Given the description of an element on the screen output the (x, y) to click on. 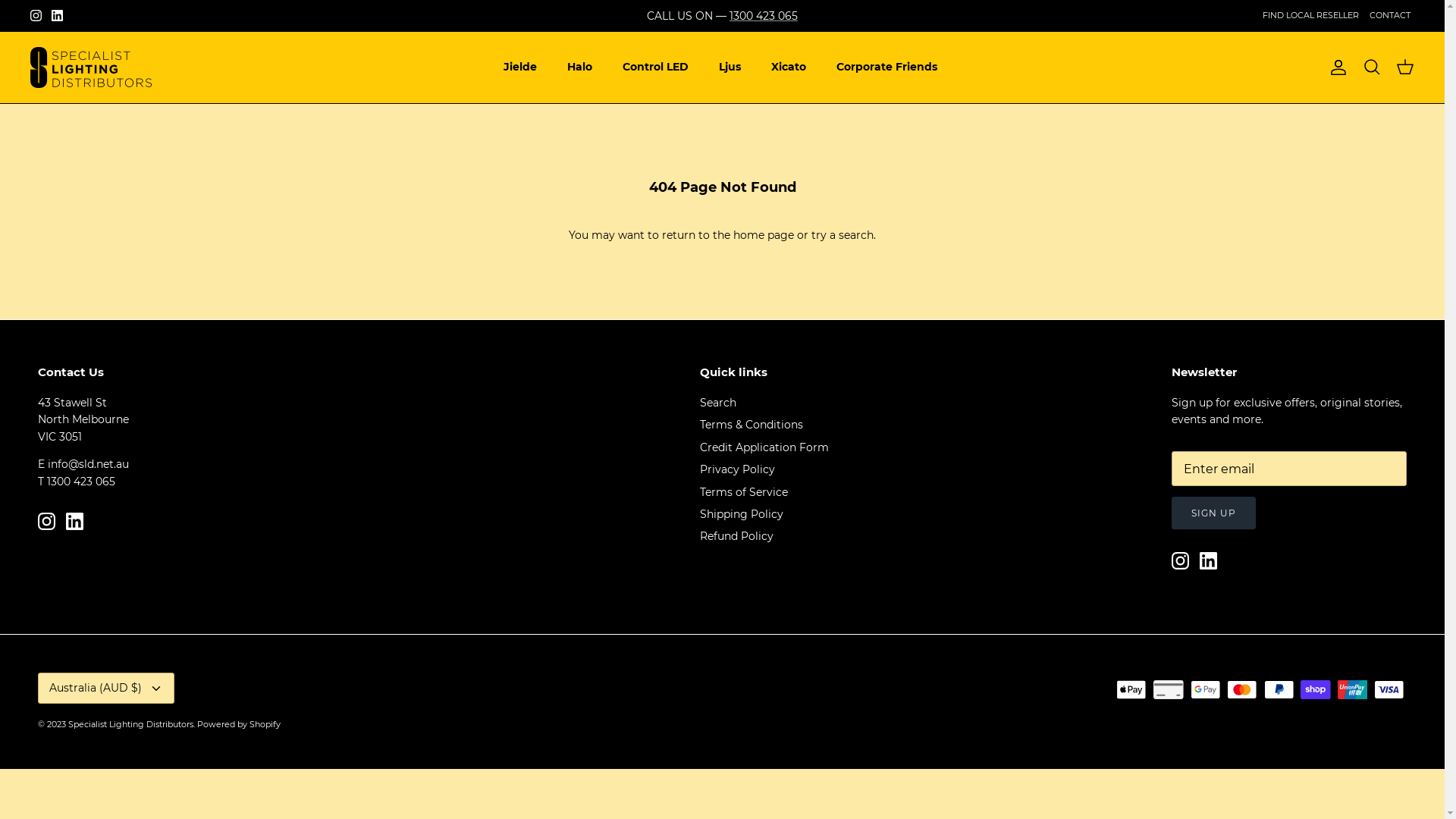
Terms & Conditions Element type: text (750, 424)
Corporate Friends Element type: text (886, 66)
Australia (AUD $)
Down Element type: text (105, 687)
FIND LOCAL RESELLER Element type: text (1310, 15)
Instagram Element type: text (35, 15)
try a search Element type: text (842, 234)
CONTACT Element type: text (1389, 15)
home page Element type: text (763, 234)
Specialist Lighting Distributors Element type: hover (90, 67)
Specialist Lighting Distributors Element type: text (130, 723)
SIGN UP Element type: text (1213, 512)
Xicato Element type: text (788, 66)
Jielde Element type: text (519, 66)
Powered by Shopify Element type: text (238, 723)
Cart Element type: text (1405, 67)
1300 423 065 Element type: text (81, 481)
Search Element type: text (717, 402)
Terms of Service Element type: text (743, 491)
1300 423 065 Element type: text (763, 15)
Halo Element type: text (579, 66)
info@sld.net.au Element type: text (87, 463)
Credit Application Form Element type: text (763, 447)
Instagram Element type: text (46, 521)
Instagram Element type: text (1180, 560)
Shipping Policy Element type: text (740, 513)
Privacy Policy Element type: text (736, 469)
Refund Policy Element type: text (735, 535)
Control LED Element type: text (655, 66)
Account Element type: text (1335, 67)
Ljus Element type: text (729, 66)
Search Element type: text (1371, 67)
